Given the description of an element on the screen output the (x, y) to click on. 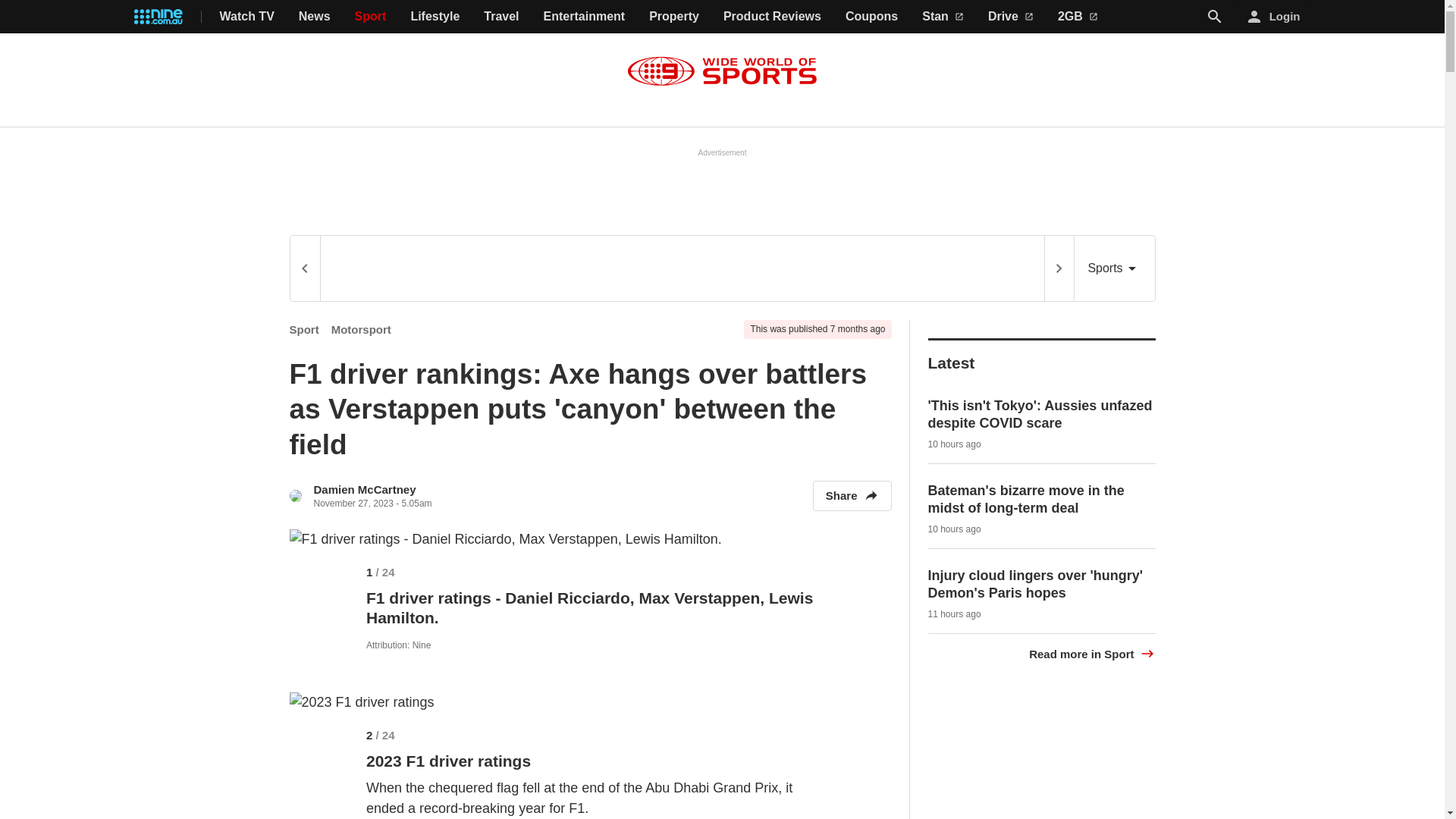
Login (1273, 16)
Stan (942, 16)
Damien McCartney (365, 489)
Watch TV (247, 16)
Sport (303, 328)
Search (1214, 16)
Motorsport (361, 328)
Drive (1010, 16)
2GB (1077, 16)
Coupons (871, 16)
Property (673, 16)
Product Reviews (772, 16)
Entertainment (584, 16)
Lifestyle (435, 16)
Share (851, 495)
